Given the description of an element on the screen output the (x, y) to click on. 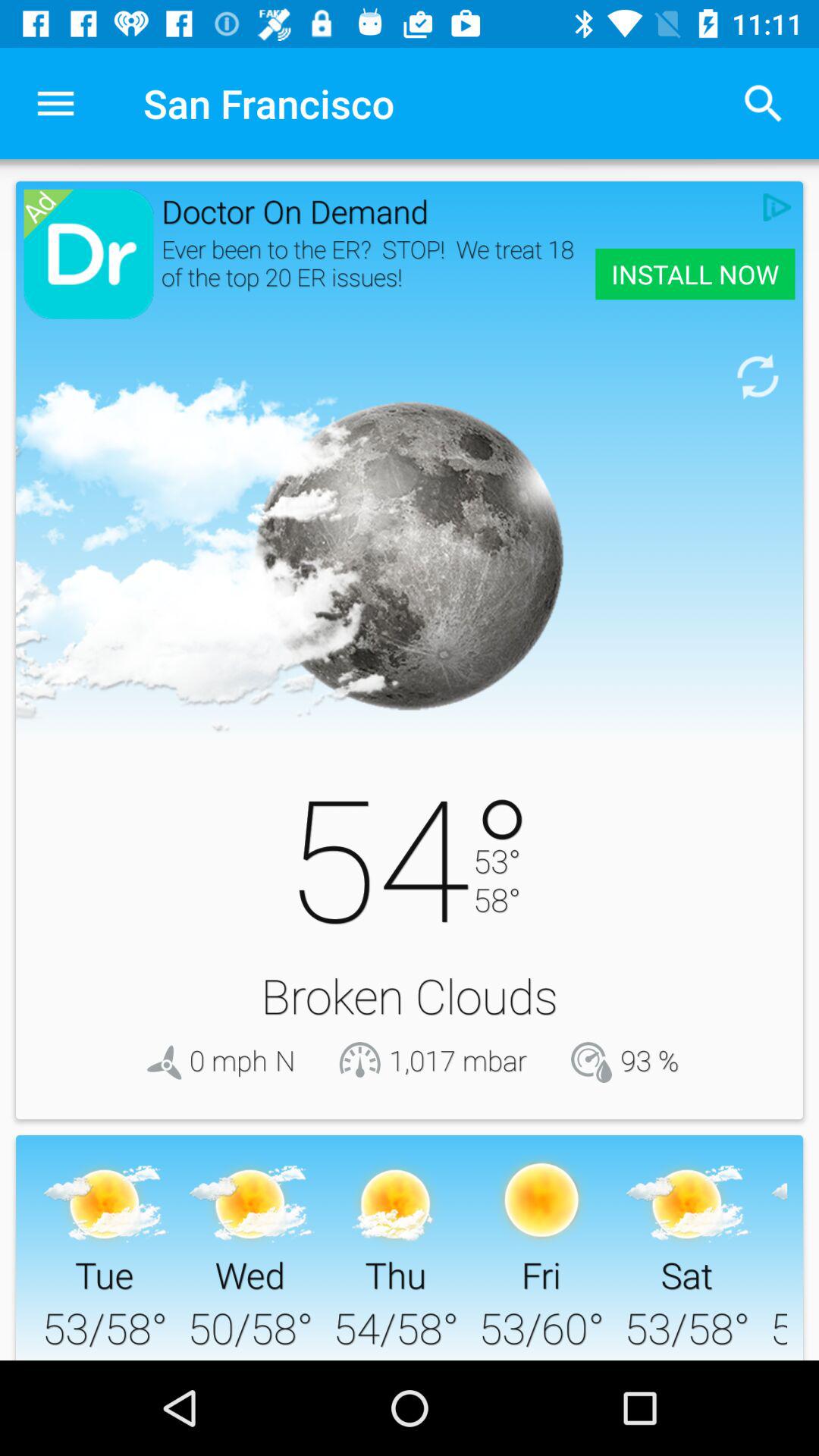
turn off the item to the right of ever been to (694, 273)
